Given the description of an element on the screen output the (x, y) to click on. 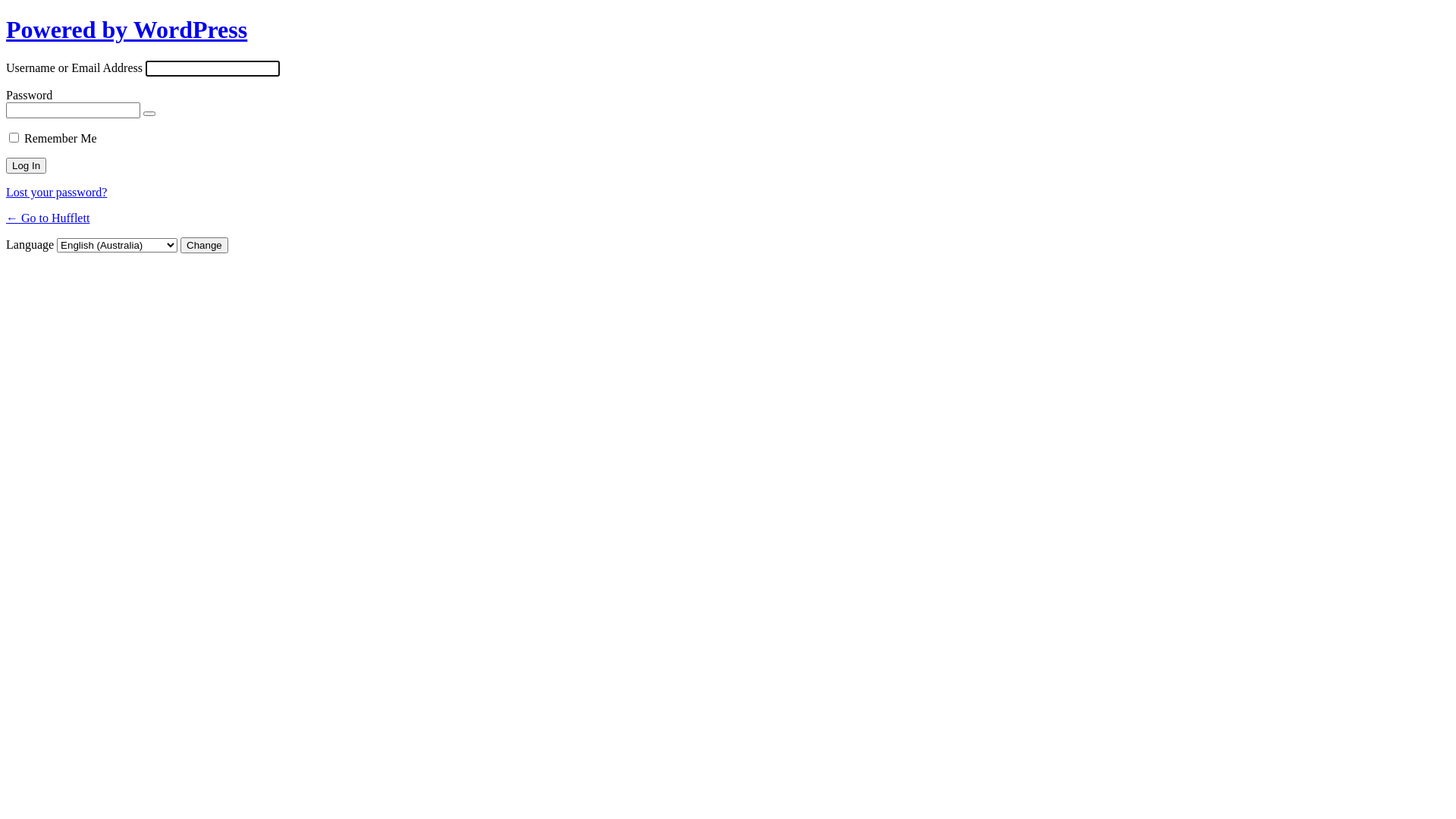
Lost your password? Element type: text (56, 191)
Change Element type: text (204, 245)
Powered by WordPress Element type: text (126, 29)
Log In Element type: text (26, 165)
